Given the description of an element on the screen output the (x, y) to click on. 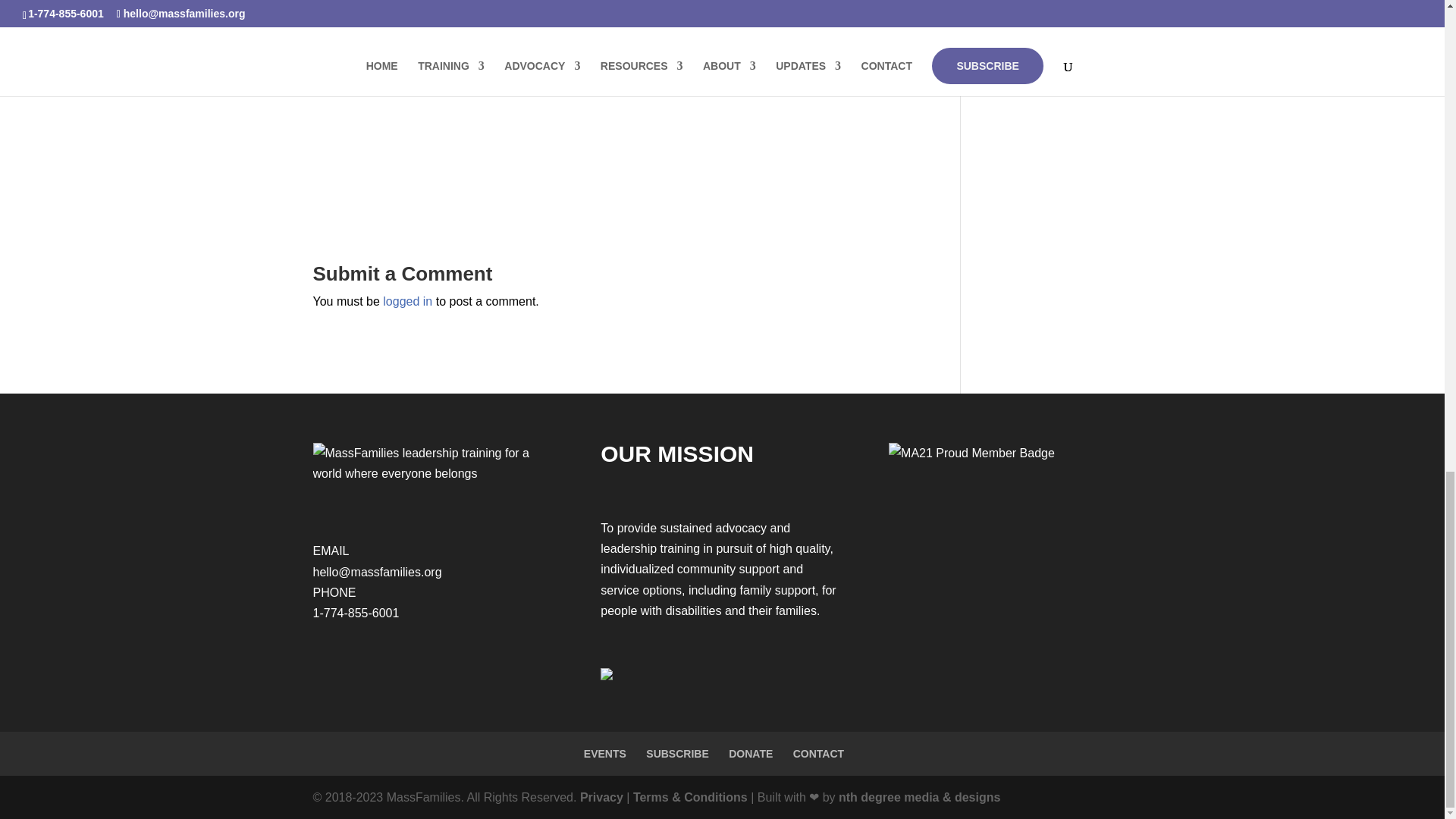
EVENTS (604, 753)
logged in (407, 300)
CONTACT (818, 753)
DONATE (751, 753)
SUBSCRIBE (676, 753)
